Given the description of an element on the screen output the (x, y) to click on. 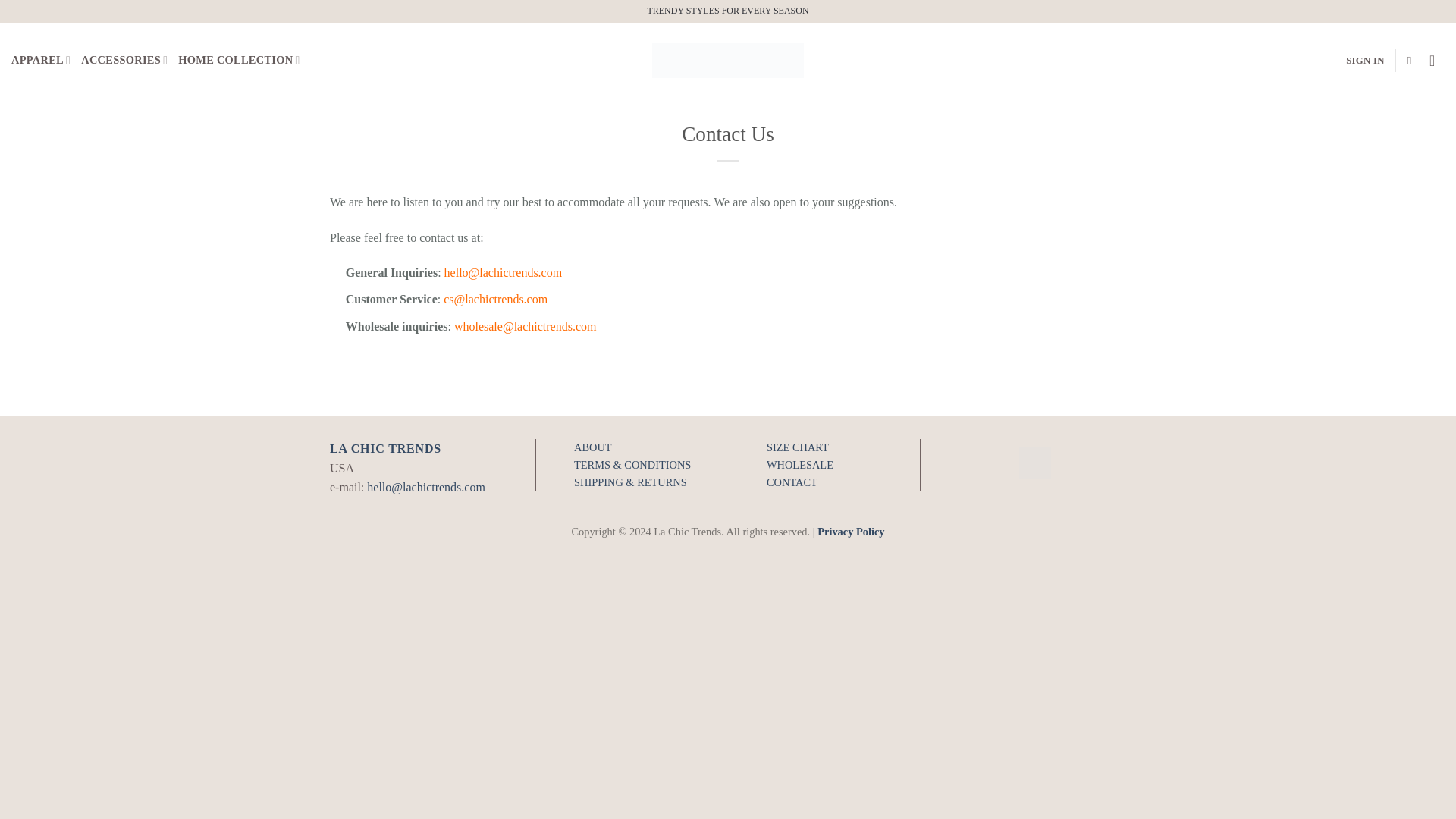
La Chic Trends - trendy styles for every season (727, 59)
HOME COLLECTION (238, 60)
SIGN IN (1364, 60)
LA CHIC TRENDS (385, 448)
WHOLESALE (799, 464)
CONTACT (791, 481)
ABOUT (592, 447)
APPAREL (40, 60)
ACCESSORIES (124, 60)
Privacy Policy (849, 531)
SIZE CHART (797, 447)
